Given the description of an element on the screen output the (x, y) to click on. 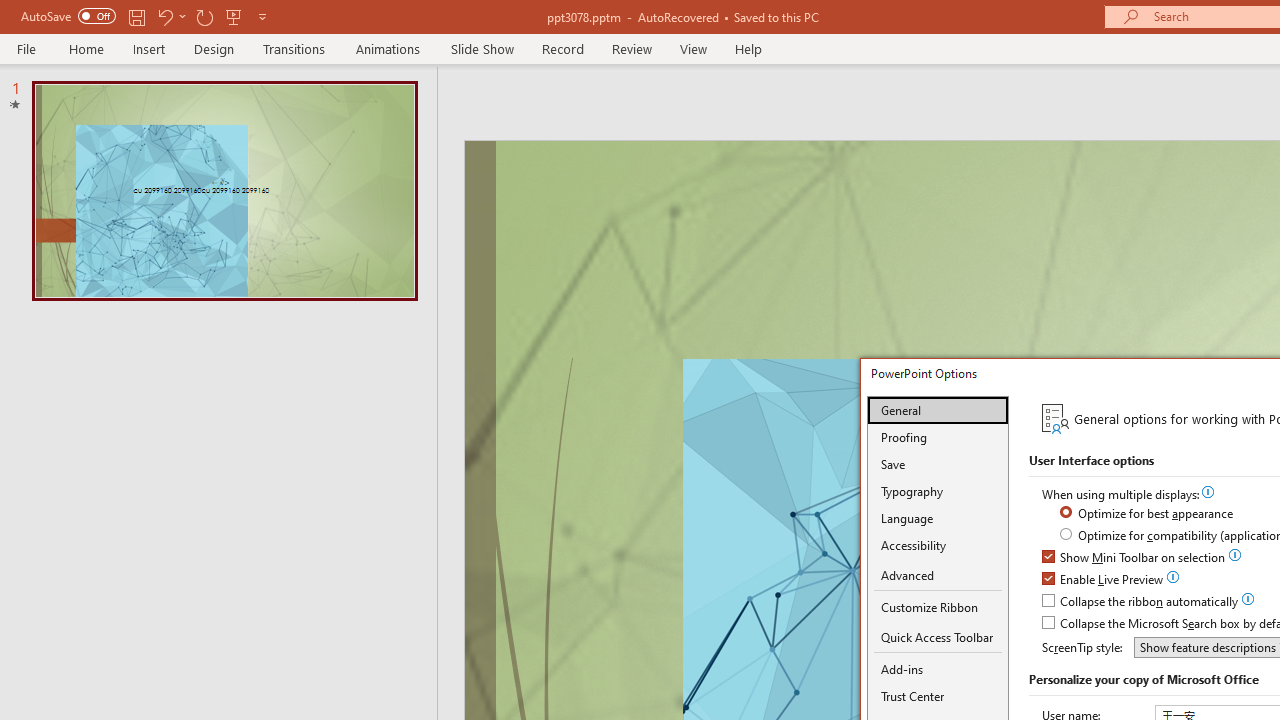
Enable Live Preview (1104, 579)
Language (937, 518)
Customize Ribbon (937, 607)
Add-ins (937, 669)
Trust Center (937, 696)
